Given the description of an element on the screen output the (x, y) to click on. 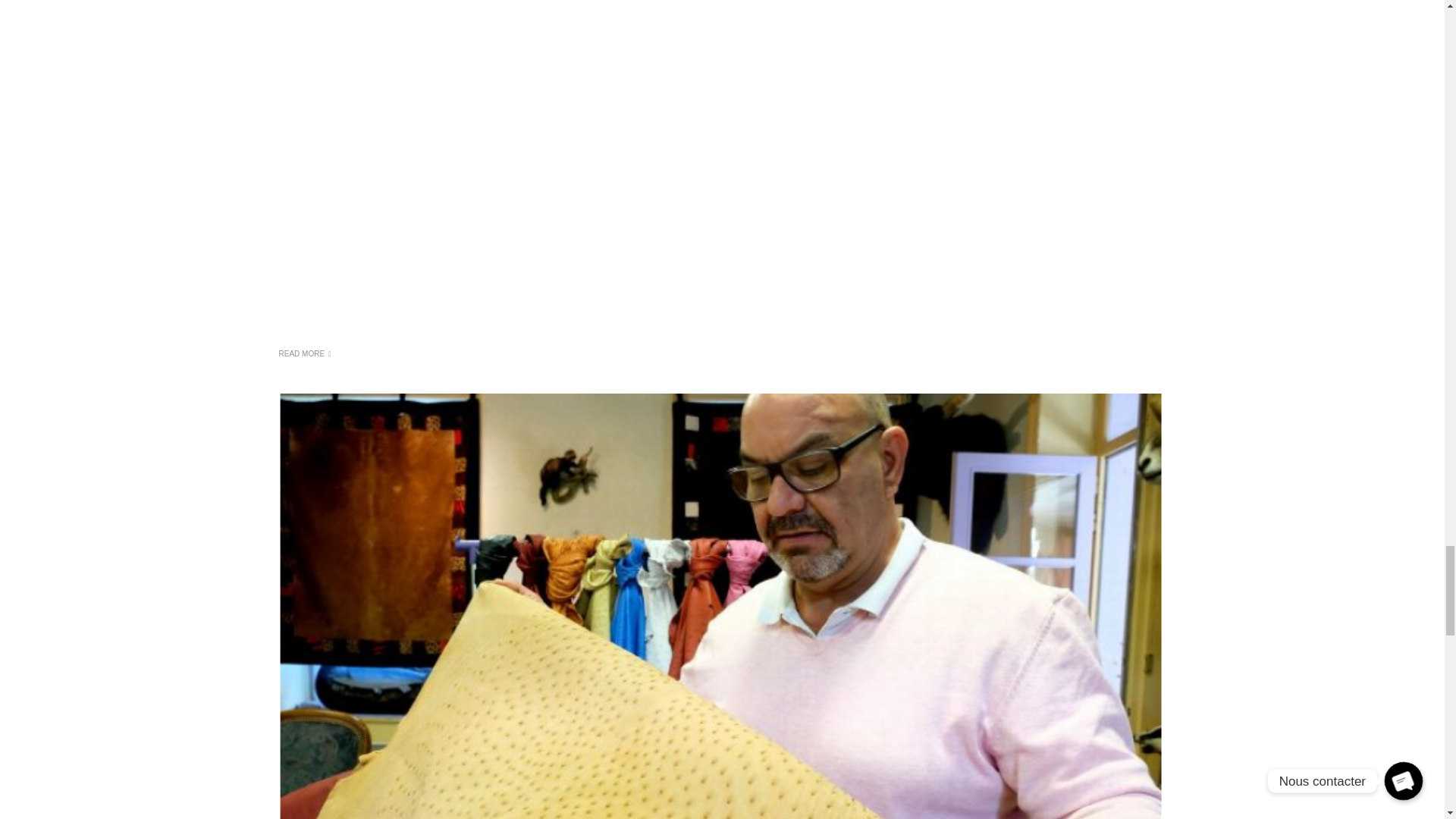
READ MORE (305, 353)
